Given the description of an element on the screen output the (x, y) to click on. 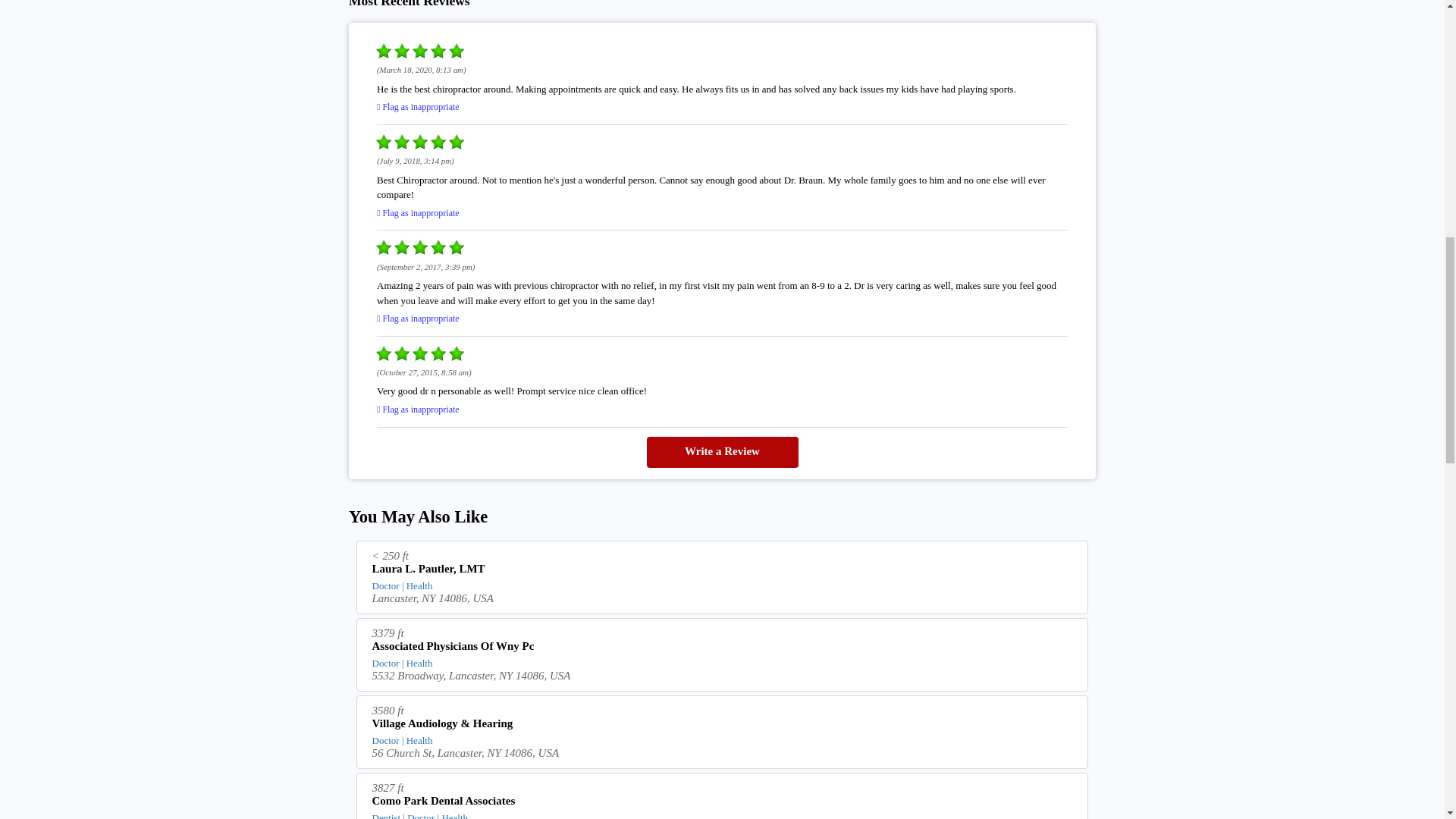
Associated Physicians Of Wny Pc (722, 647)
Como Park Dental Associates (722, 802)
Laura L. Pautler, LMT (722, 570)
